Given the description of an element on the screen output the (x, y) to click on. 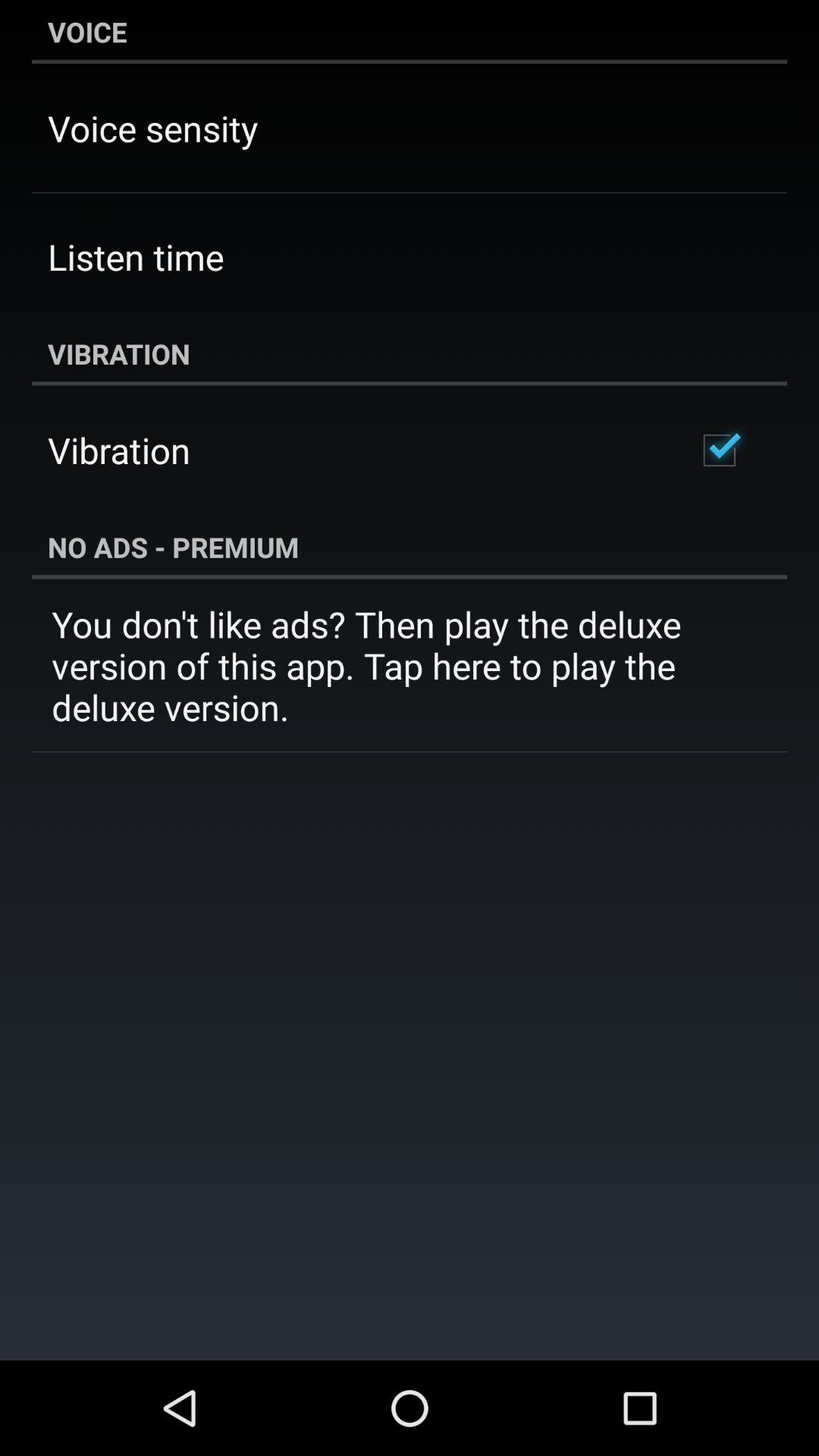
launch the icon next to vibration item (719, 450)
